Given the description of an element on the screen output the (x, y) to click on. 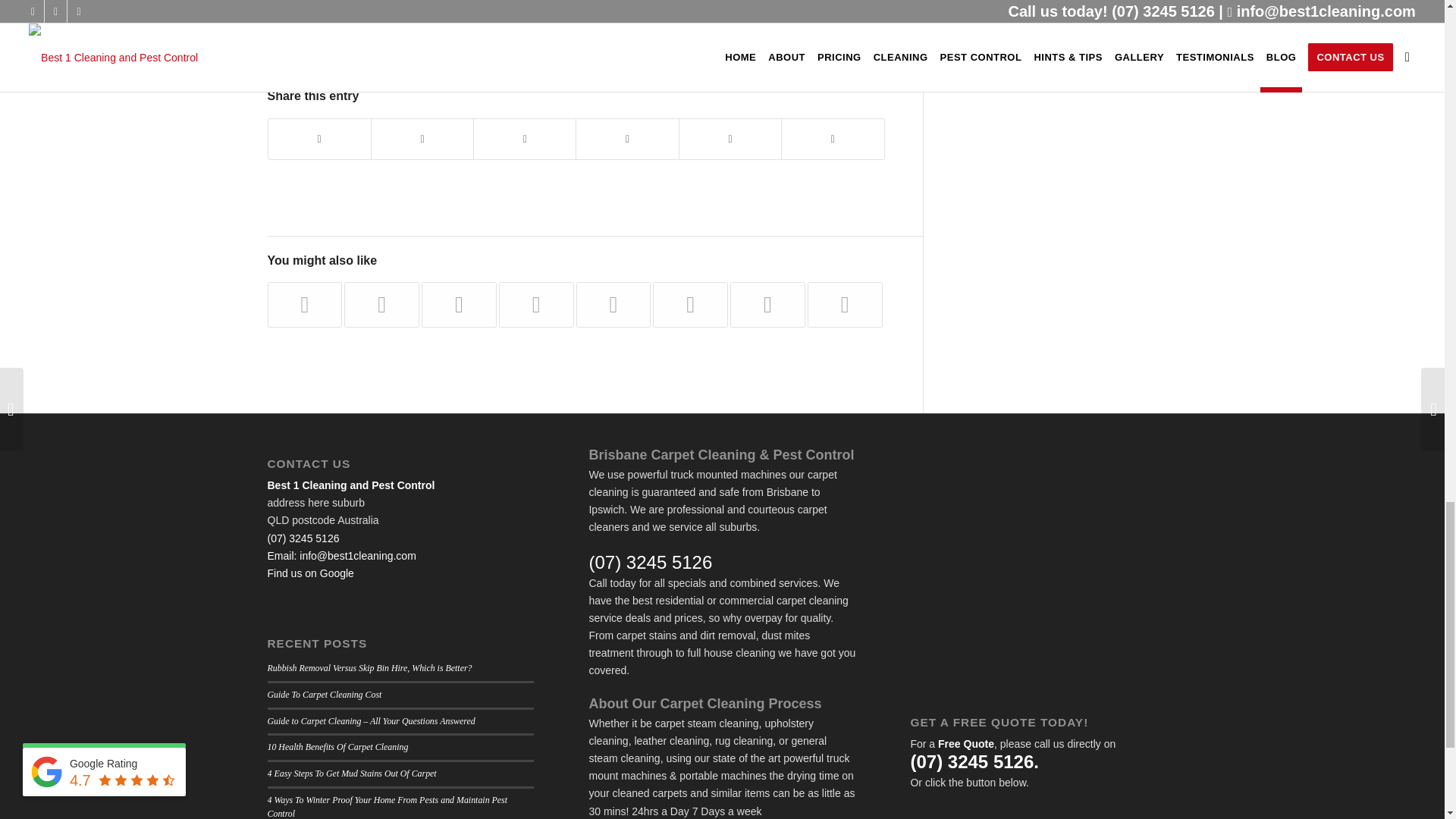
Removing Odours From Rugs (304, 304)
Tile Cleaning Brisbane (459, 304)
